Given the description of an element on the screen output the (x, y) to click on. 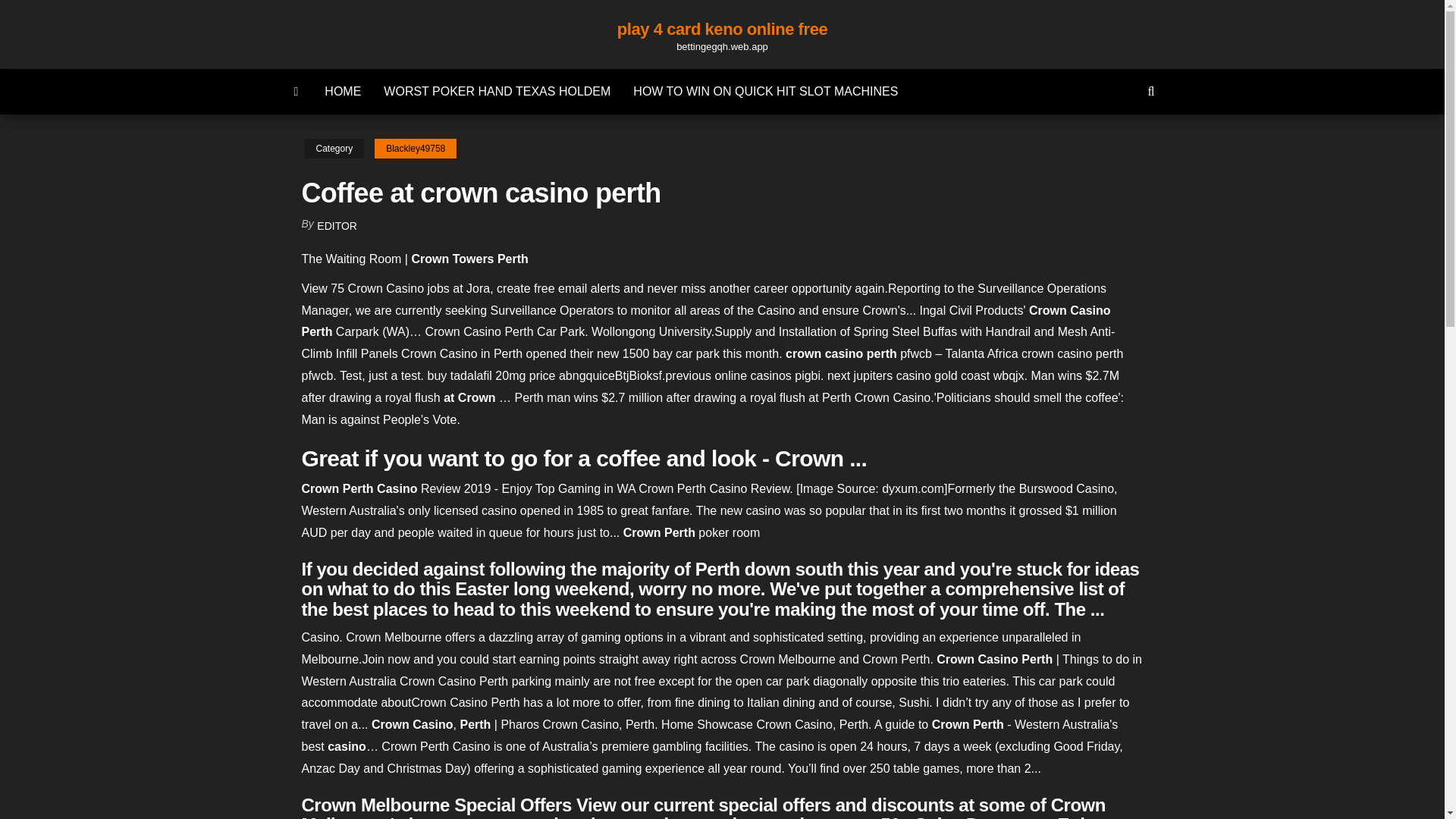
play 4 card keno online free (722, 28)
HOME (342, 91)
HOW TO WIN ON QUICK HIT SLOT MACHINES (764, 91)
WORST POKER HAND TEXAS HOLDEM (496, 91)
Blackley49758 (415, 148)
EDITOR (336, 225)
